Given the description of an element on the screen output the (x, y) to click on. 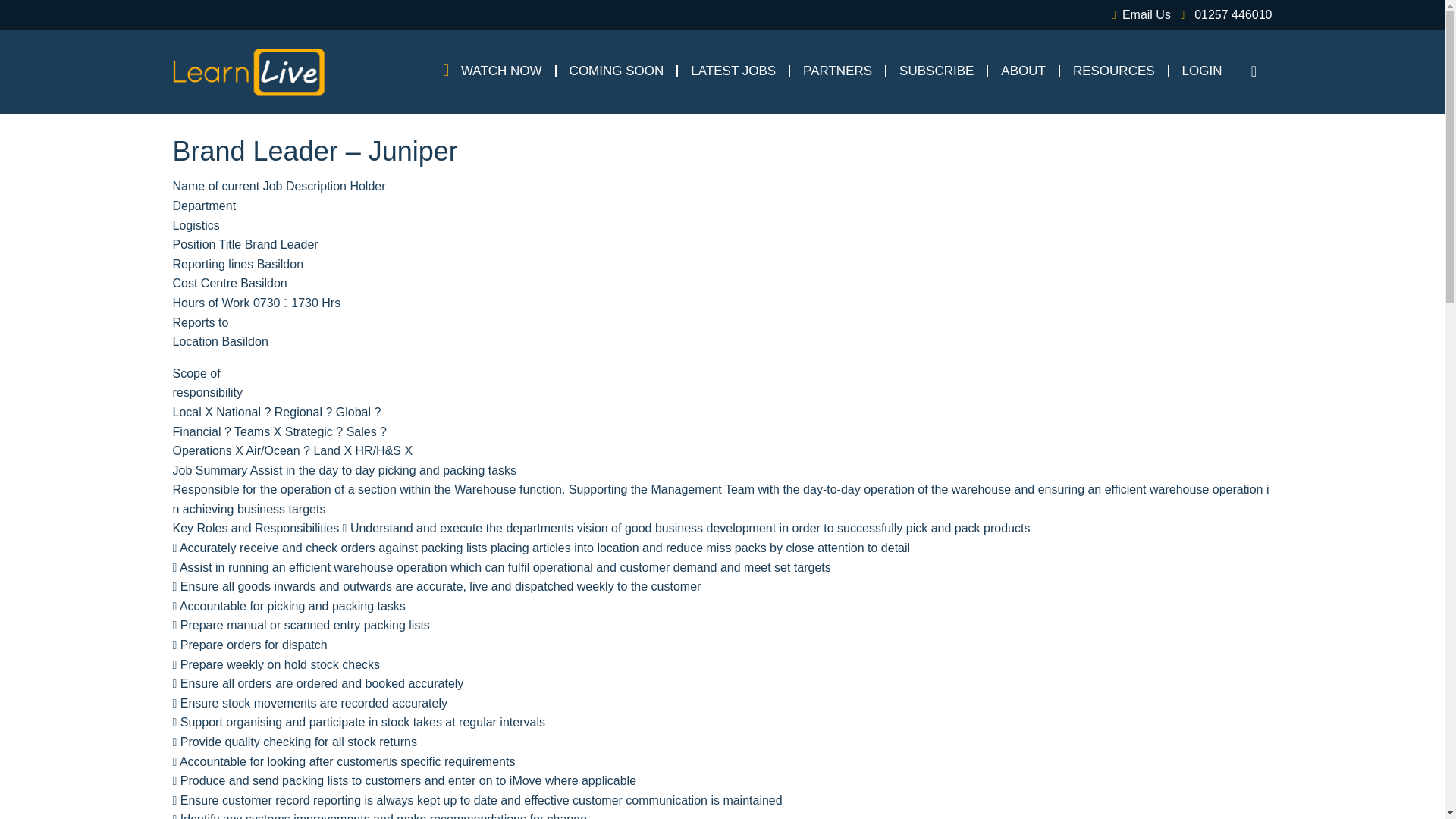
Search (1257, 70)
ABOUT (1023, 70)
LOGIN (1202, 70)
COMING SOON (617, 70)
SUBSCRIBE (936, 70)
WATCH NOW (501, 70)
PARTNERS (837, 70)
01257 446010 (1222, 14)
RESOURCES (1114, 70)
Email Us (1137, 14)
Email Us (1137, 14)
LATEST JOBS (733, 70)
